Given the description of an element on the screen output the (x, y) to click on. 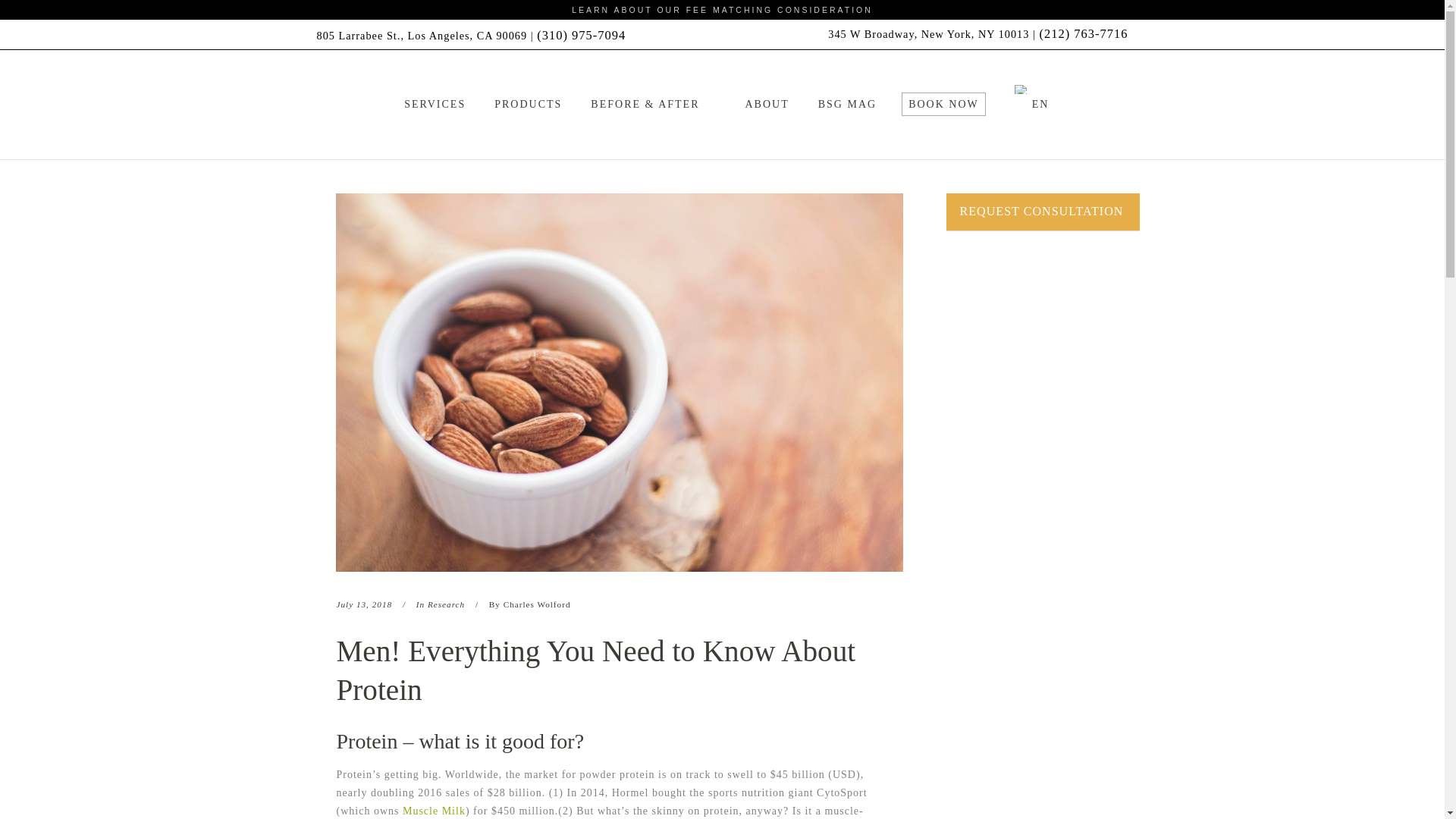
LEARN ABOUT OUR FEE MATCHING CONSIDERATION (722, 9)
SERVICES (435, 104)
English (1020, 89)
ABOUT (766, 104)
PRODUCTS (528, 104)
